Given the description of an element on the screen output the (x, y) to click on. 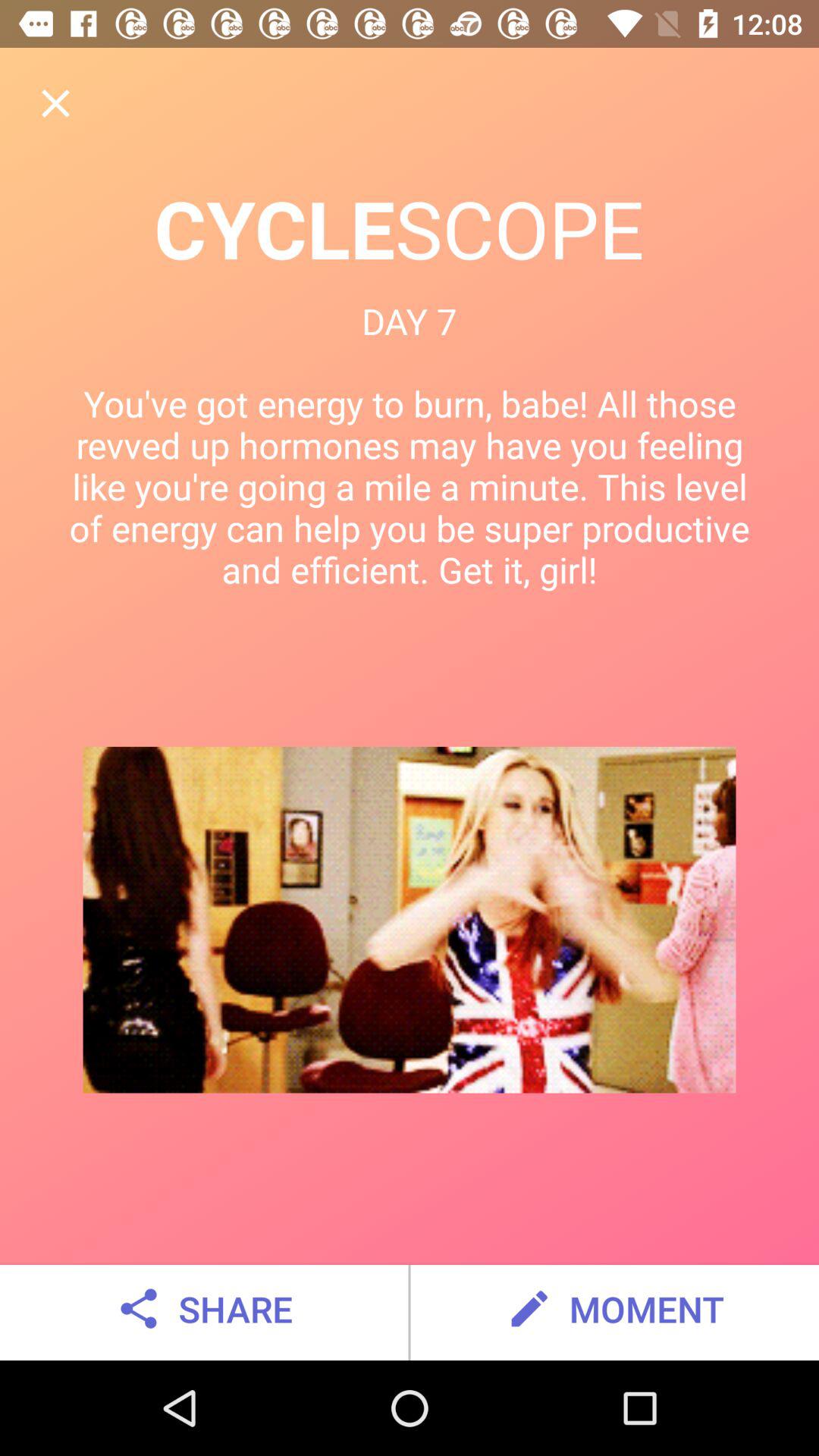
turn on share at the bottom left corner (203, 1308)
